Given the description of an element on the screen output the (x, y) to click on. 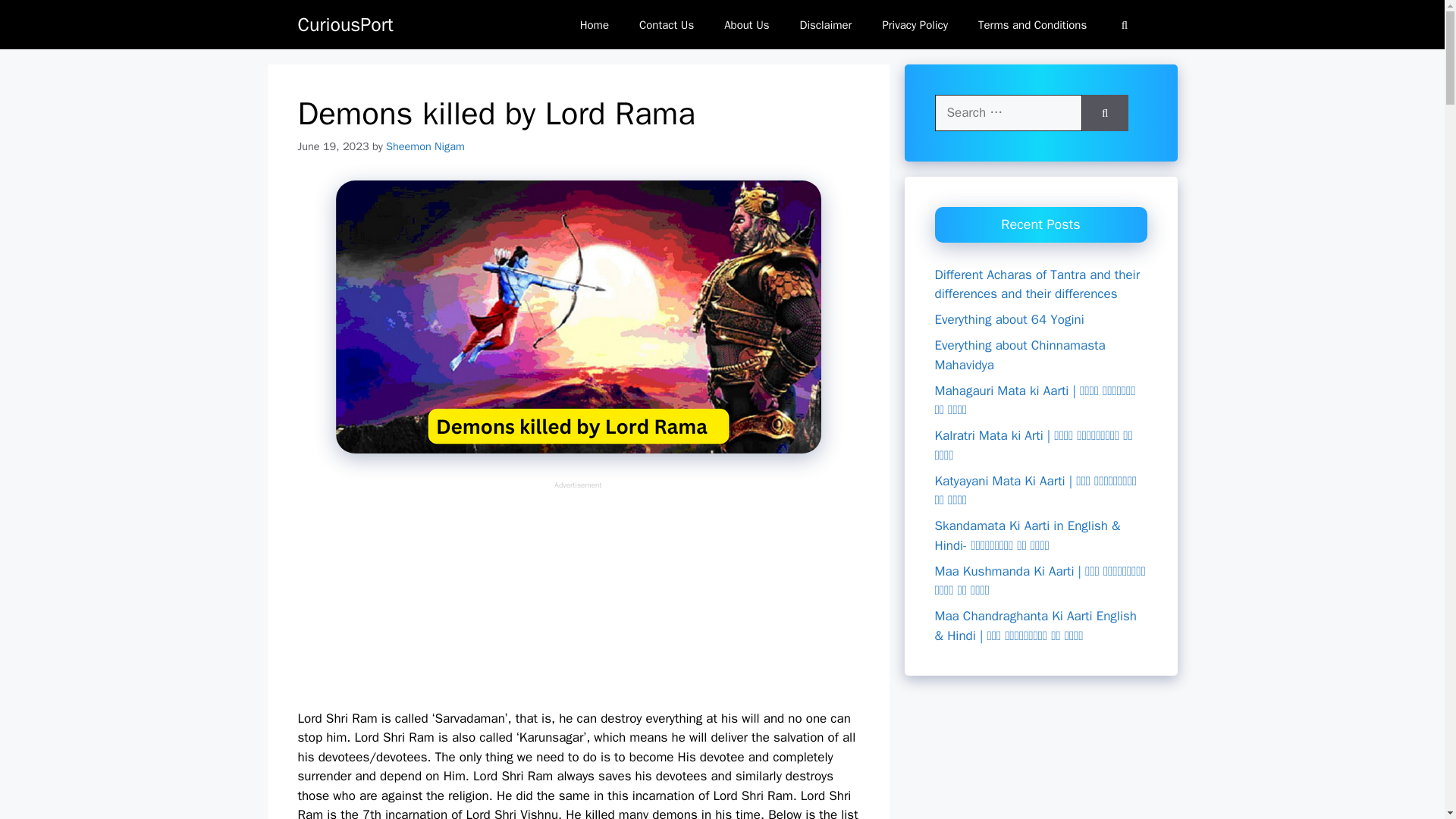
About Us (746, 23)
Terms and Conditions (1032, 23)
Contact Us (666, 23)
View all posts by Sheemon Nigam (424, 146)
Advertisement (578, 596)
Home (594, 23)
Privacy Policy (914, 23)
CuriousPort (345, 24)
Disclaimer (825, 23)
Sheemon Nigam (424, 146)
